Given the description of an element on the screen output the (x, y) to click on. 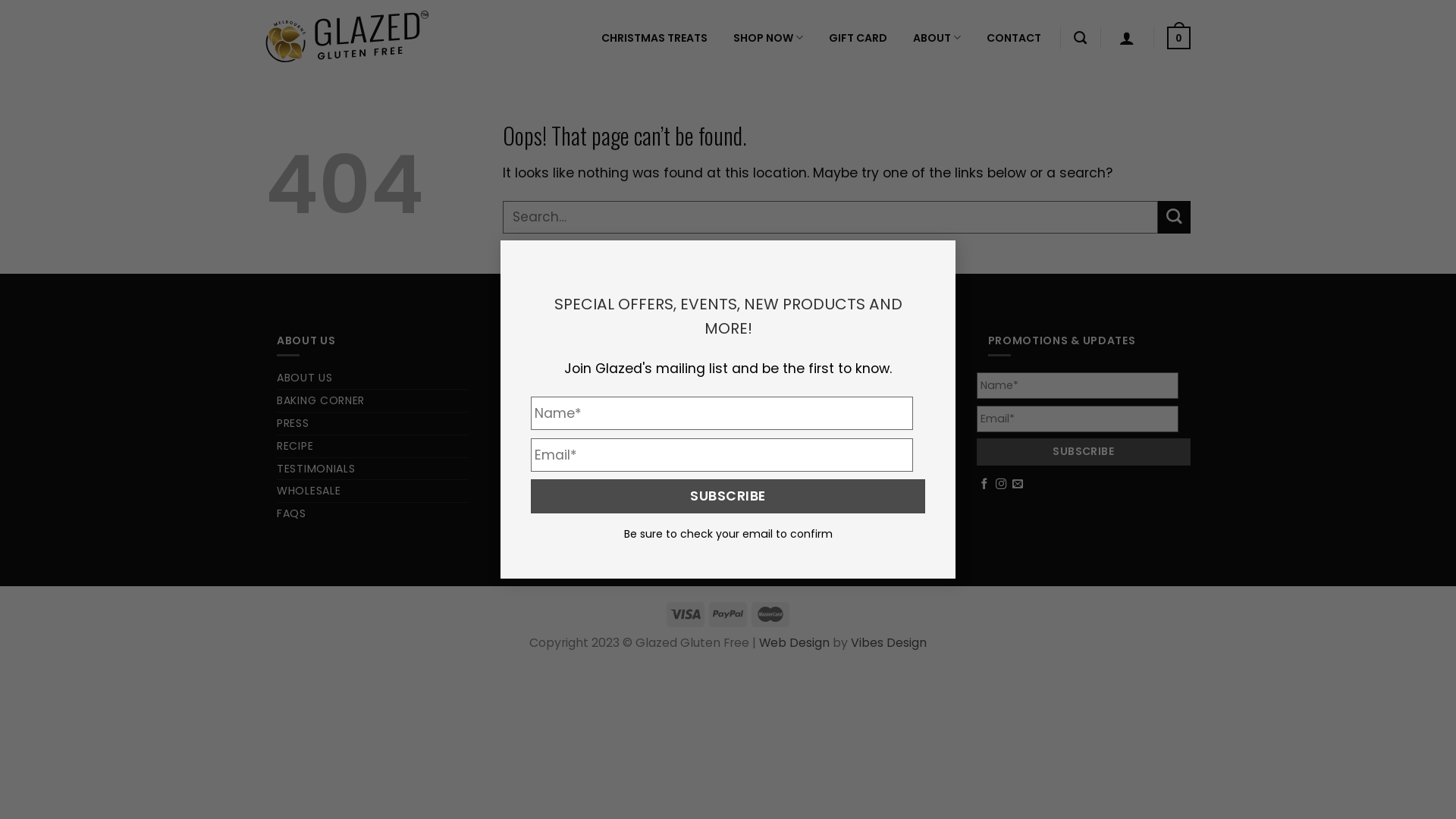
Glazed Gluten Free - Gluten Free Bakery Melbourne Element type: hover (347, 37)
GIFT CARD Element type: text (857, 37)
KREMBO SIGNATURE DESSERT Element type: text (830, 423)
Follow on Facebook Element type: hover (984, 484)
PRESS Element type: text (292, 423)
MY ACCOUNT Element type: text (552, 378)
RECIPE Element type: text (294, 446)
CELEBRATION BOX Element type: text (800, 446)
Web Design Element type: text (794, 642)
Send us an email Element type: hover (1017, 484)
Subscribe Element type: text (727, 495)
INDIVIDUAL DESSERTS Element type: text (808, 491)
ABOUT Element type: text (936, 37)
BREAD SELECTIONS Element type: text (802, 400)
CUSTOM MADE CAKE Element type: text (808, 513)
PRIVACY POLICY Element type: text (559, 423)
PROMOTIONS Element type: text (788, 378)
Skip to content Element type: text (0, 0)
GIFT CARD Element type: text (779, 536)
Vibes Design Element type: text (888, 642)
WHOLESALE Element type: text (308, 491)
Subscribe Element type: text (1083, 451)
CHRISTMAS TREATS Element type: text (654, 37)
TERMS & CONDITIONS Element type: text (575, 400)
TESTIMONIALS Element type: text (315, 469)
Follow on Instagram Element type: hover (1001, 484)
0 Element type: text (1178, 37)
ABOUT US Element type: text (304, 378)
FAQS Element type: text (291, 513)
BAKING CORNER Element type: text (320, 400)
CONTACT Element type: text (1013, 37)
SHOP NOW Element type: text (768, 37)
